Given the description of an element on the screen output the (x, y) to click on. 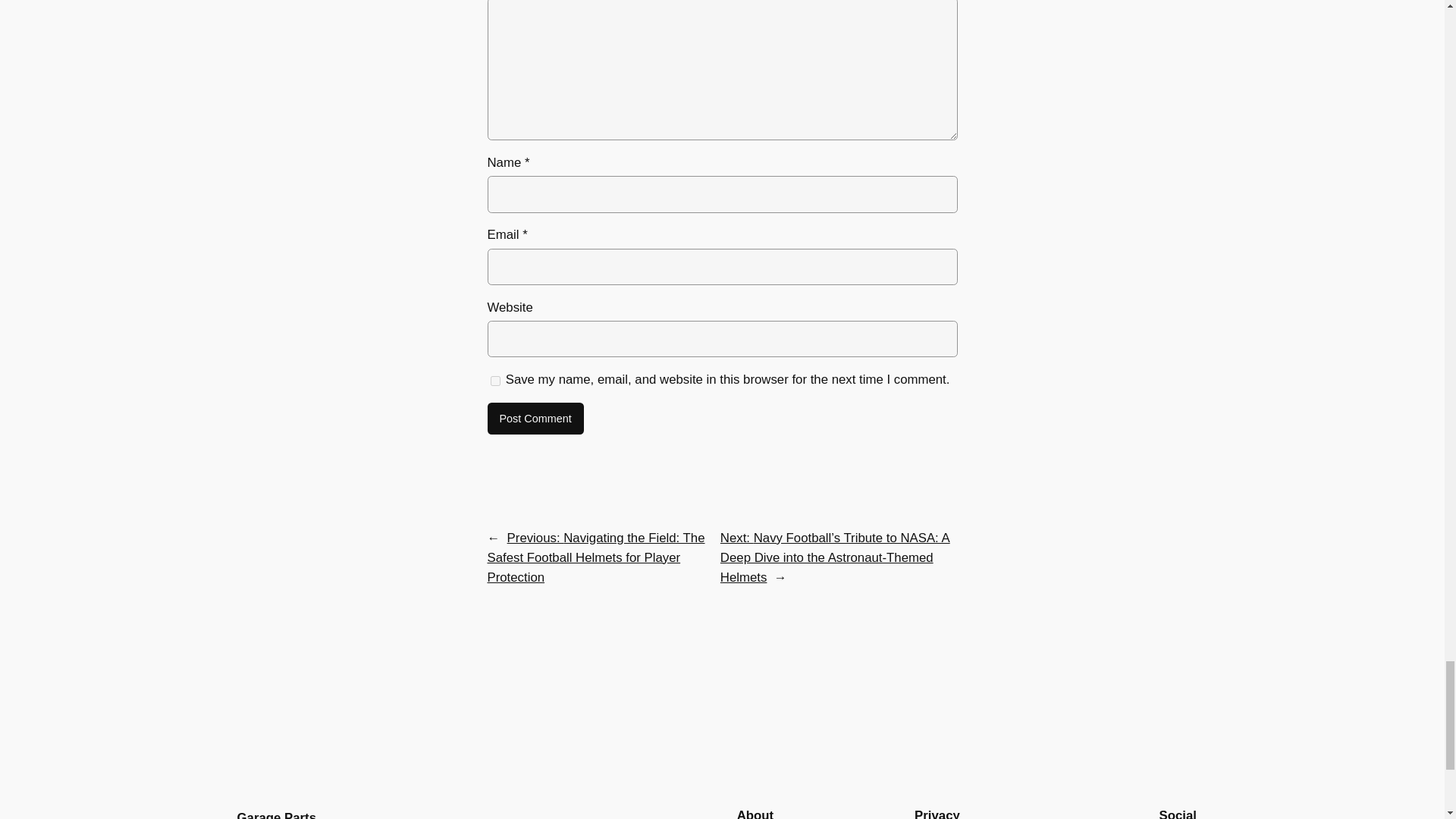
Post Comment (534, 418)
Post Comment (534, 418)
